Given the description of an element on the screen output the (x, y) to click on. 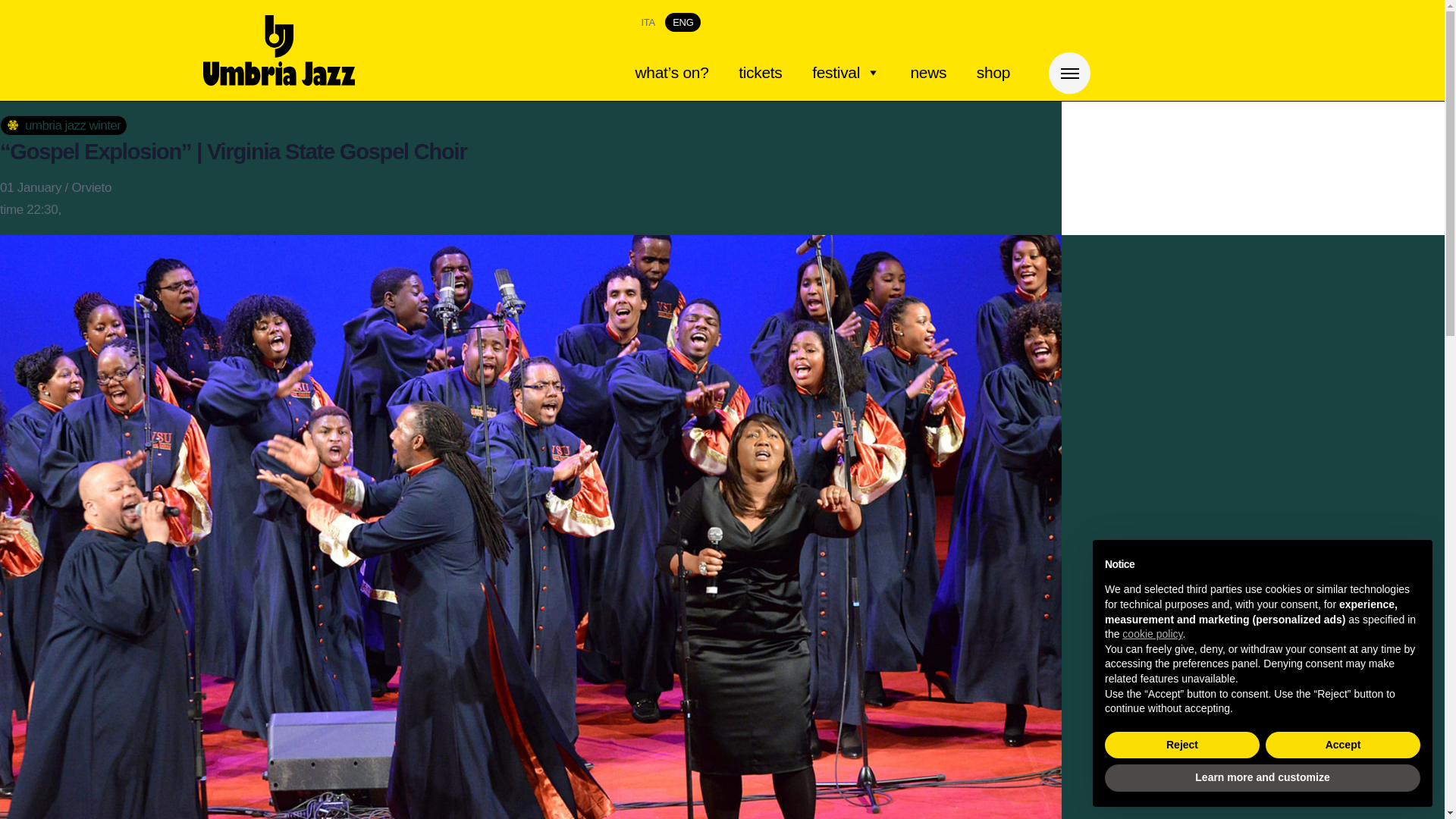
news (927, 72)
ITA (647, 22)
shop (993, 72)
ENG (682, 22)
festival (846, 72)
tickets (759, 72)
